Given the description of an element on the screen output the (x, y) to click on. 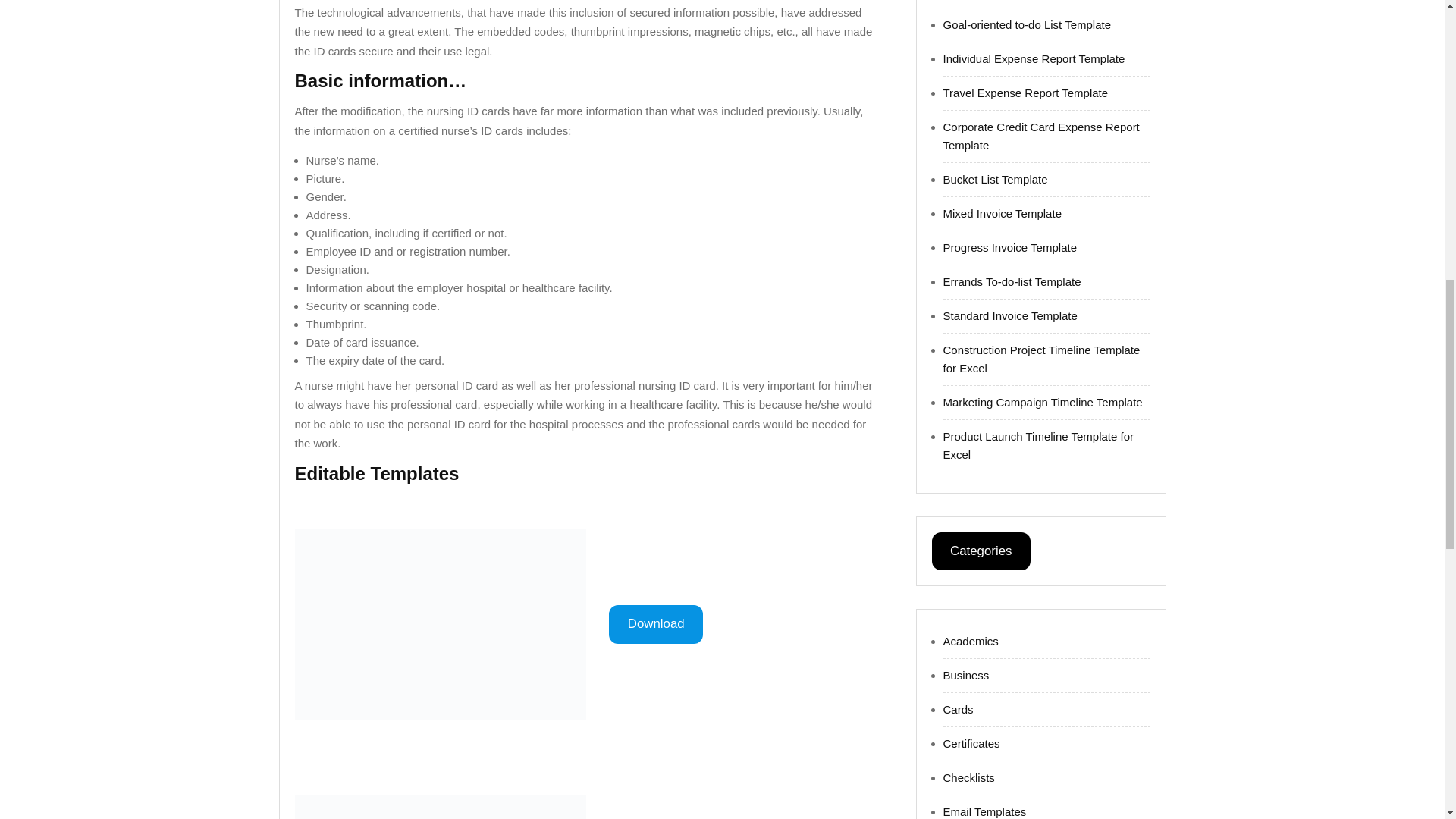
Download (655, 624)
